Given the description of an element on the screen output the (x, y) to click on. 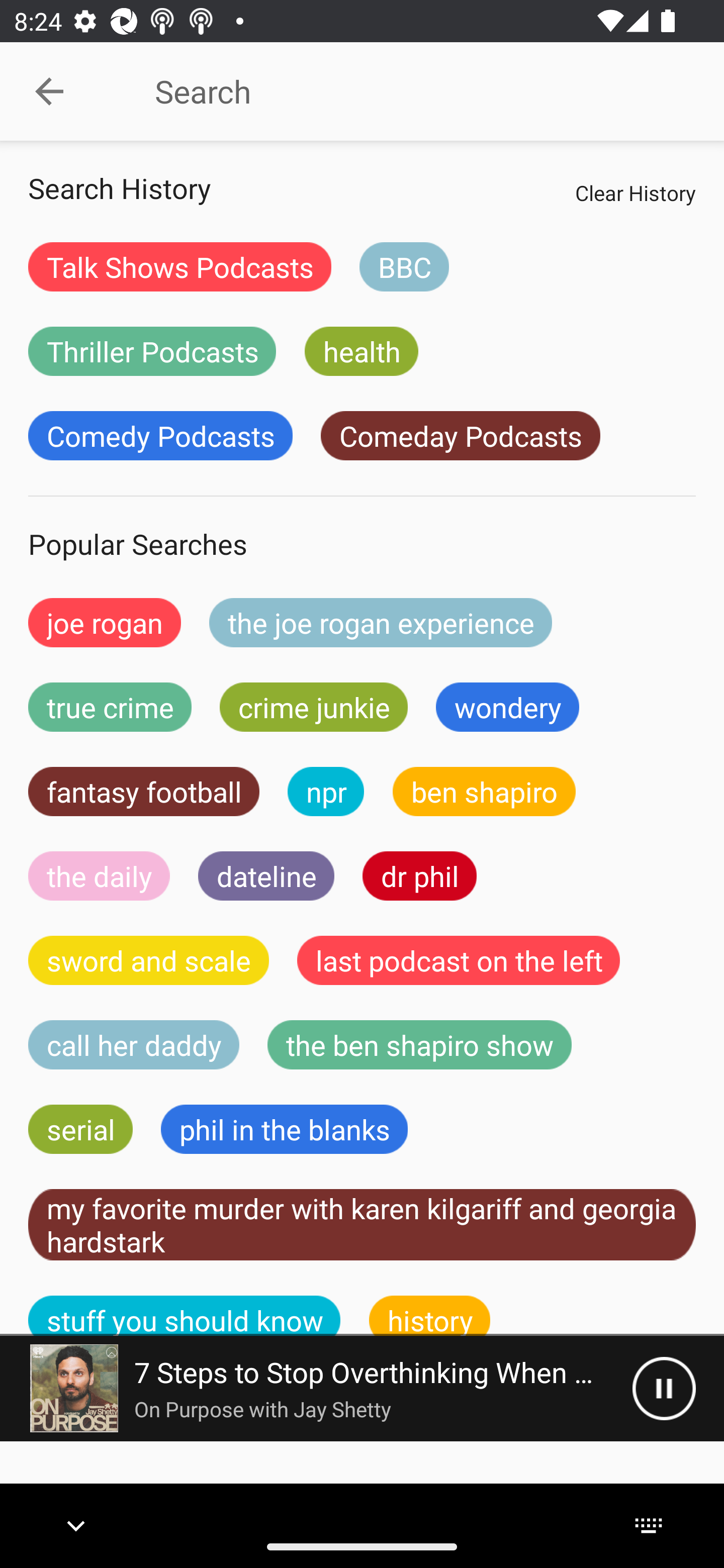
Collapse (49, 91)
Search (407, 91)
Clear History (634, 192)
Talk Shows Podcasts (179, 266)
BBC (403, 266)
Thriller Podcasts (152, 351)
health (361, 351)
Comedy Podcasts (160, 435)
Comeday Podcasts (460, 435)
joe rogan (104, 622)
the joe rogan experience (380, 622)
true crime (109, 707)
crime junkie (313, 707)
wondery (507, 707)
fantasy football (143, 791)
npr (325, 791)
ben shapiro (483, 791)
the daily (99, 875)
dateline (266, 875)
dr phil (419, 875)
sword and scale (148, 960)
last podcast on the left (458, 960)
call her daddy (133, 1044)
the ben shapiro show (419, 1044)
serial (80, 1128)
phil in the blanks (283, 1128)
stuff you should know (184, 1315)
history (429, 1315)
Pause (663, 1388)
